Given the description of an element on the screen output the (x, y) to click on. 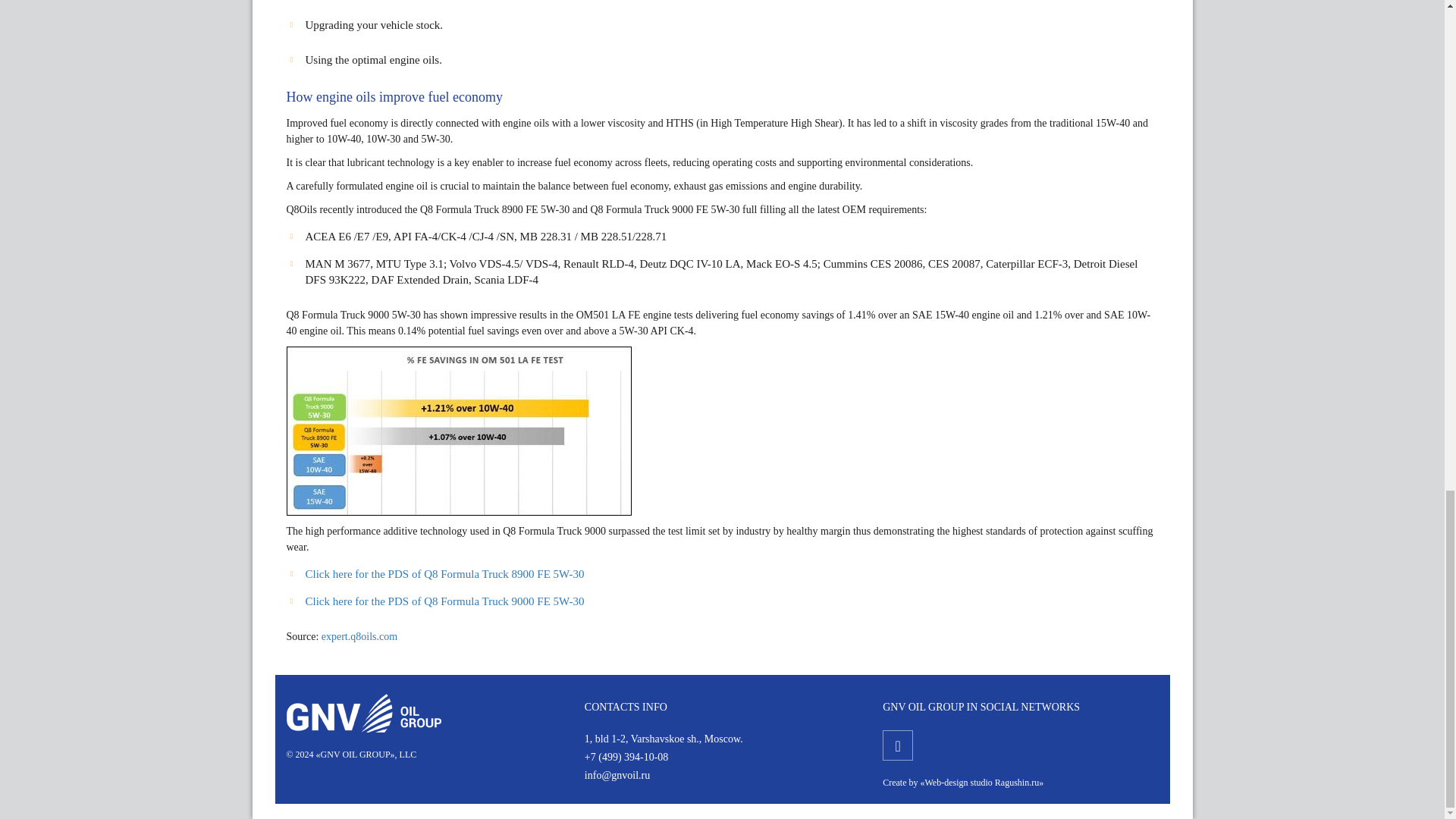
expert.q8oils.com (359, 636)
Click here for the PDS of Q8 Formula Truck 9000 FE 5W-30 (443, 601)
Create by (899, 782)
Youtube (897, 745)
afbeelding.jpg (458, 430)
Click here for the PDS of Q8 Formula Truck 8900 FE 5W-30 (443, 573)
